Given the description of an element on the screen output the (x, y) to click on. 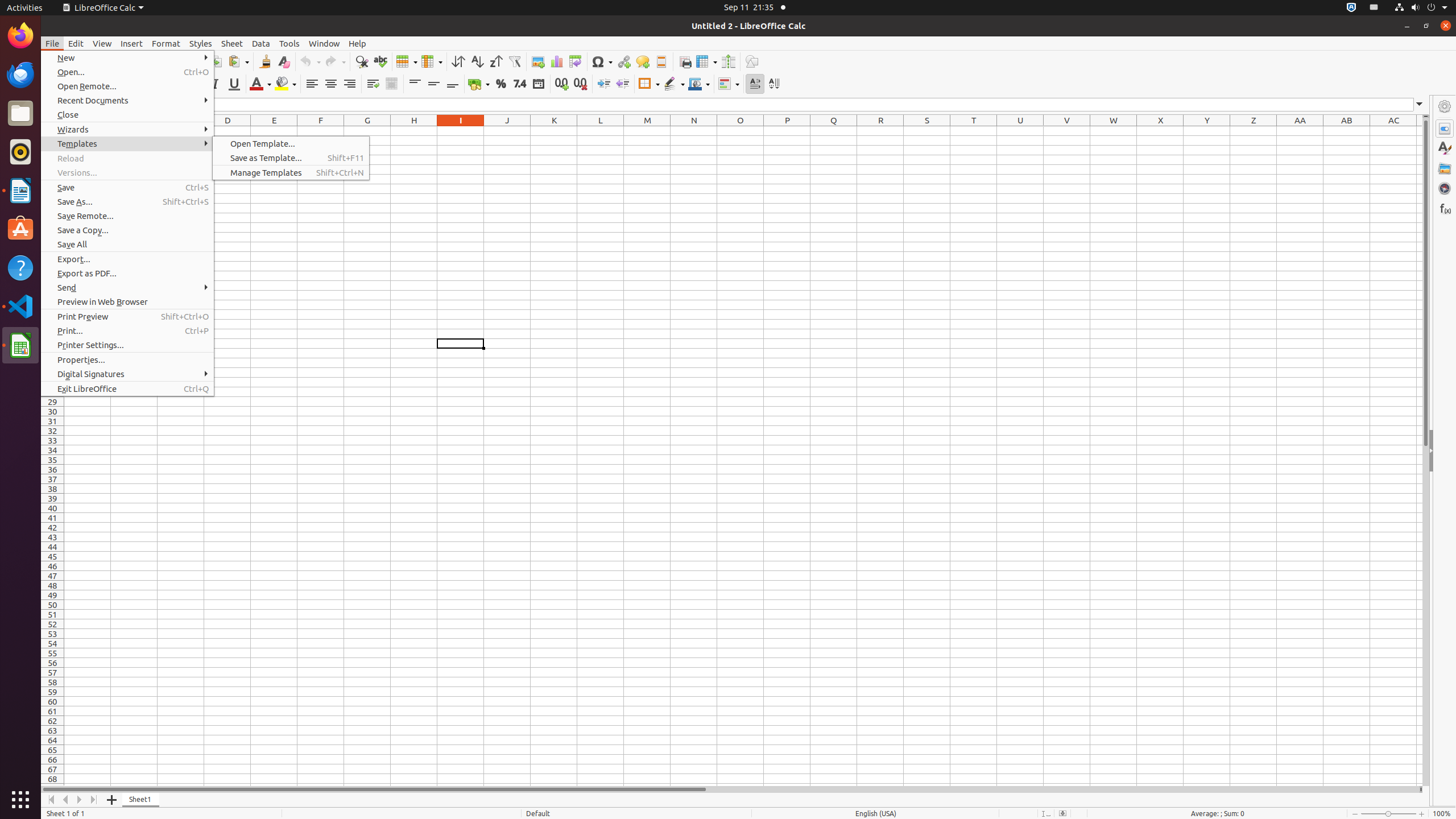
Background Color Element type: push-button (285, 83)
Wizards Element type: menu (126, 129)
Save All Element type: menu-item (126, 244)
Symbol Element type: push-button (601, 61)
Properties... Element type: menu-item (126, 359)
